Given the description of an element on the screen output the (x, y) to click on. 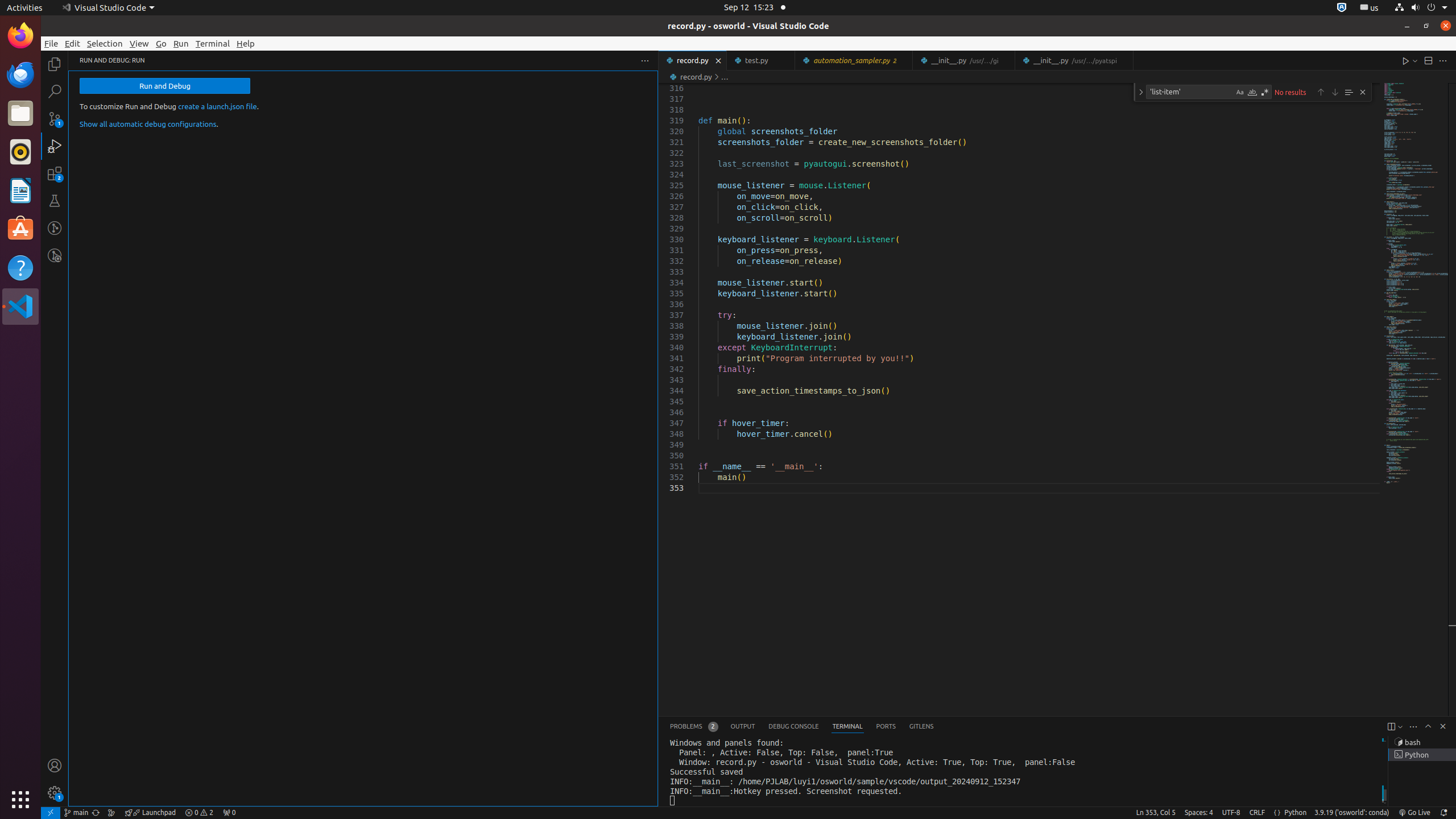
test.py Element type: page-tab (760, 60)
Split Editor Down Element type: push-button (1427, 60)
GitLens Element type: page-tab (921, 726)
Extensions (Ctrl+Shift+X) - 2 require update Element type: page-tab (54, 173)
More Actions... Element type: push-button (1442, 60)
